Given the description of an element on the screen output the (x, y) to click on. 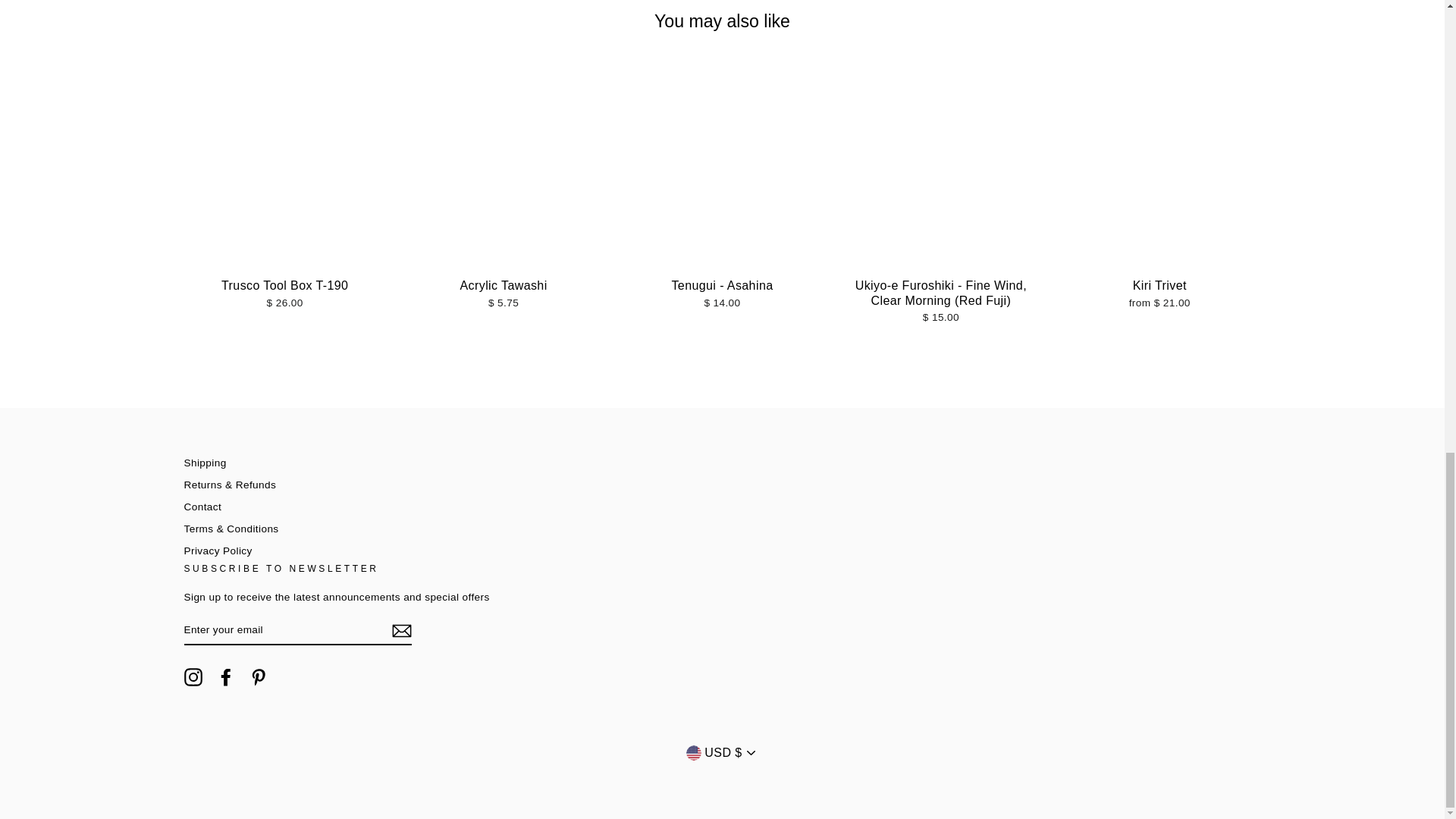
ombrato on Pinterest (257, 677)
ombrato on Instagram (192, 677)
ombrato on Facebook (225, 677)
